Given the description of an element on the screen output the (x, y) to click on. 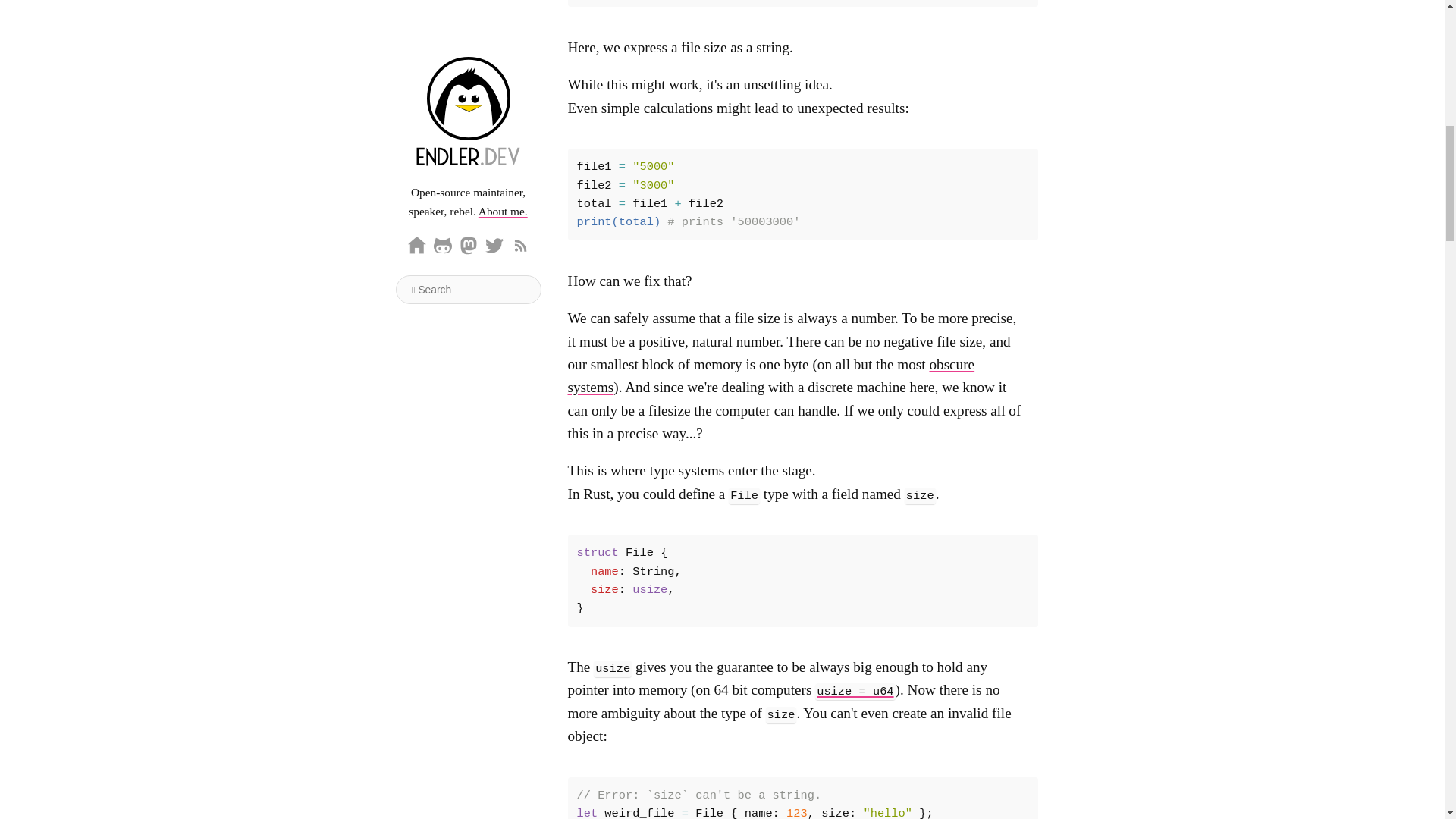
obscure systems (770, 375)
